Given the description of an element on the screen output the (x, y) to click on. 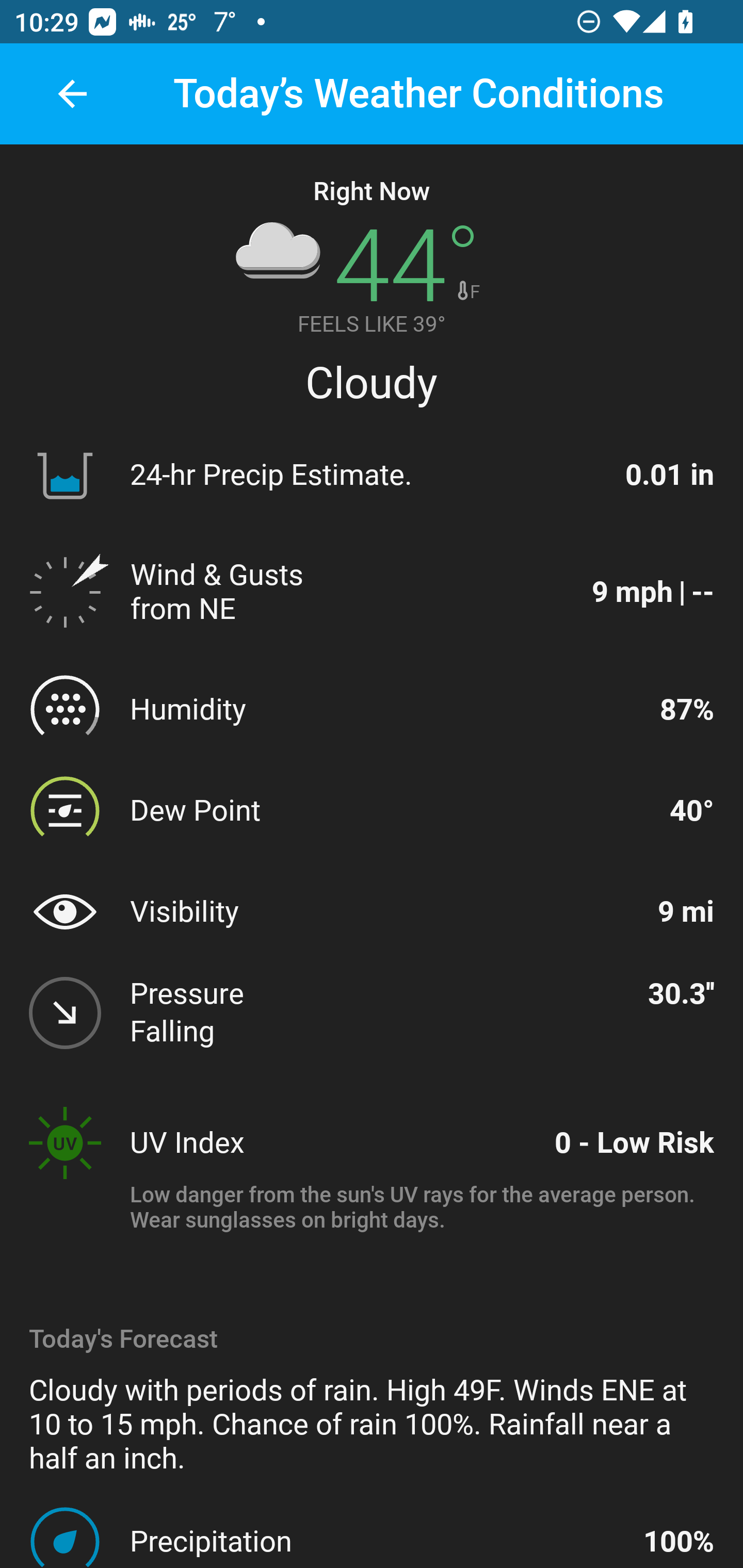
back (71, 93)
Precipitation (377, 1541)
100% (678, 1541)
